Given the description of an element on the screen output the (x, y) to click on. 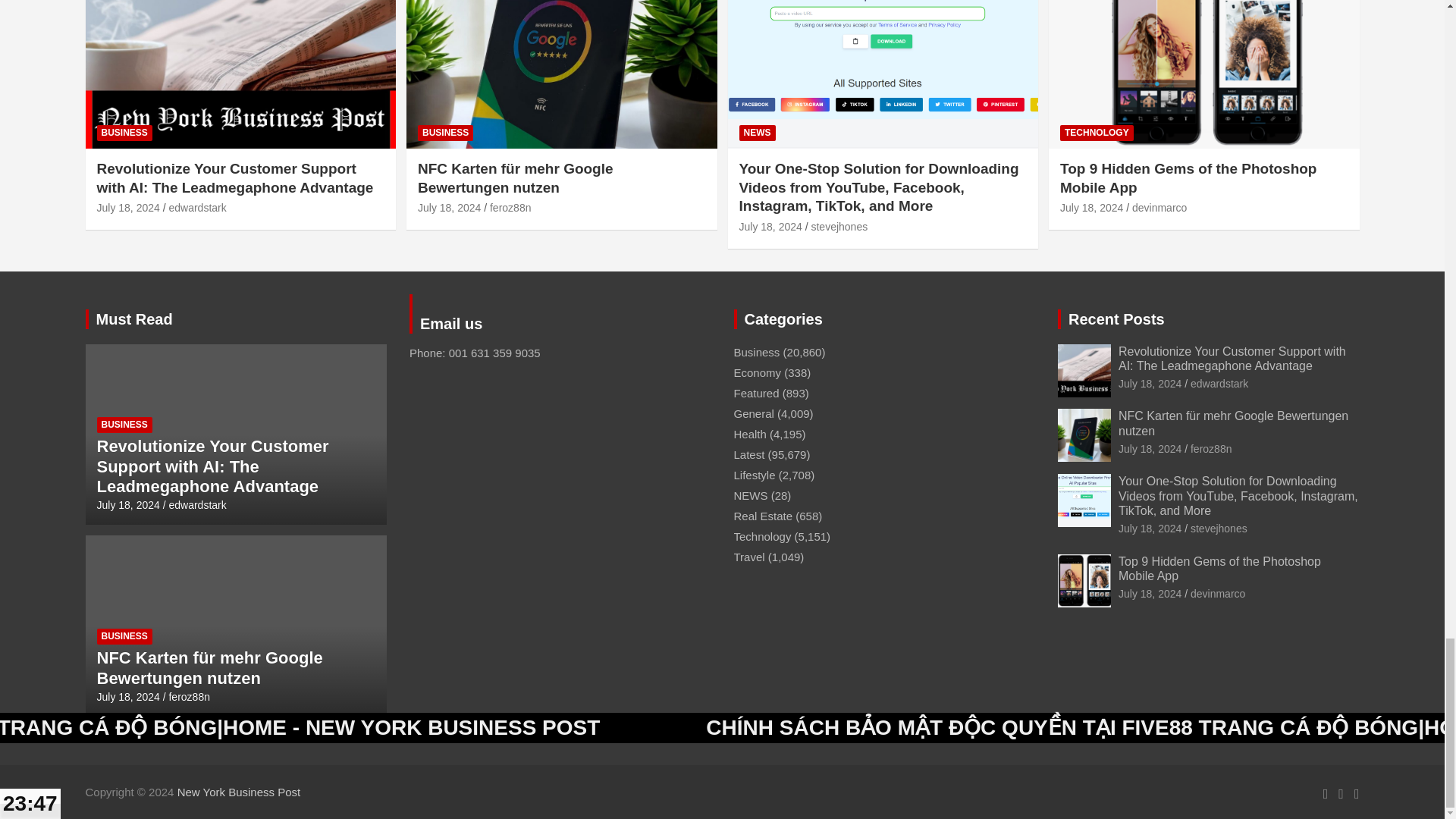
Top 9 Hidden Gems of the Photoshop Mobile App (1090, 207)
